Given the description of an element on the screen output the (x, y) to click on. 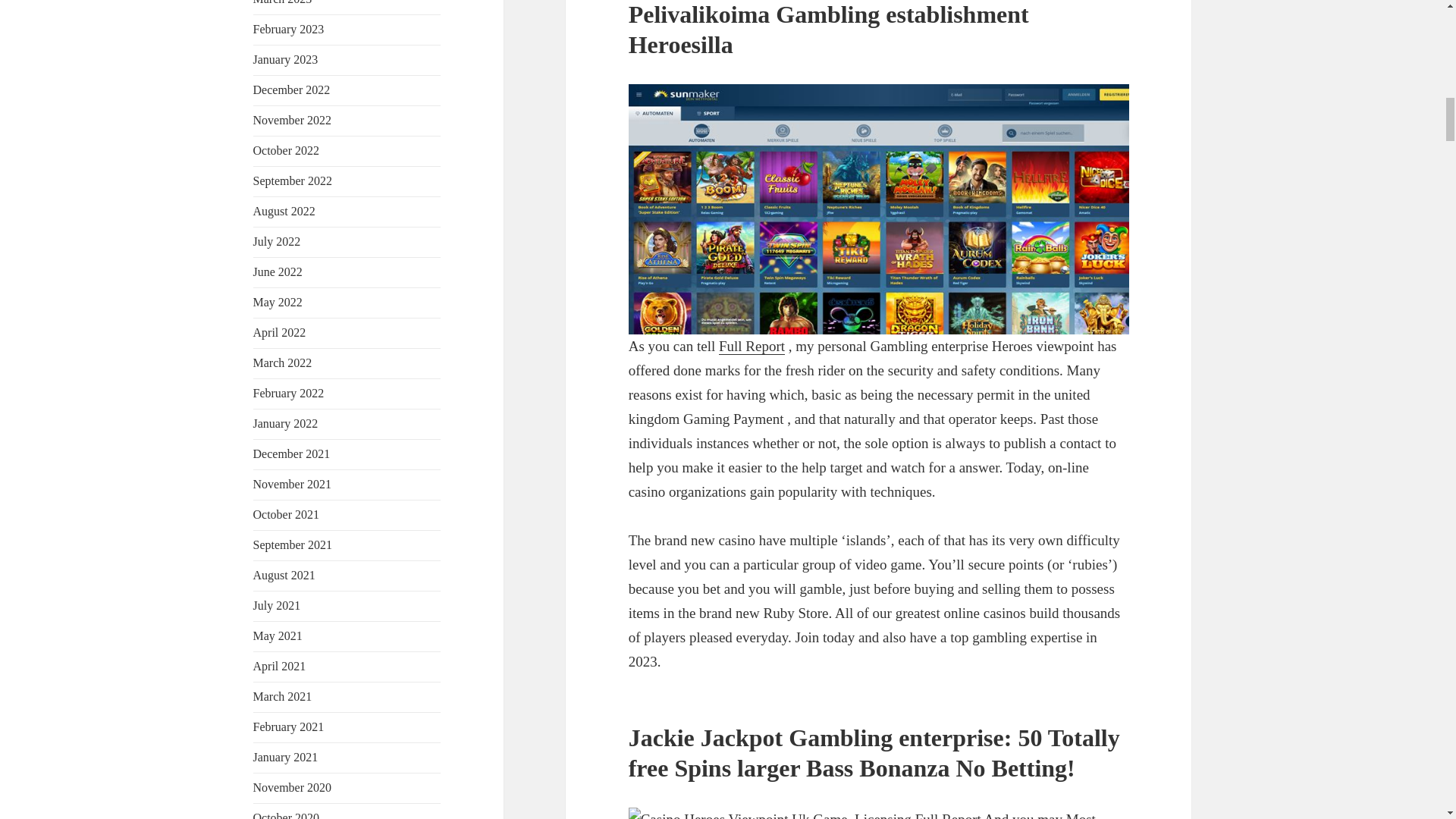
March 2023 (283, 2)
December 2022 (291, 89)
November 2022 (292, 119)
September 2022 (292, 180)
October 2022 (286, 150)
February 2023 (288, 29)
January 2023 (285, 59)
